Given the description of an element on the screen output the (x, y) to click on. 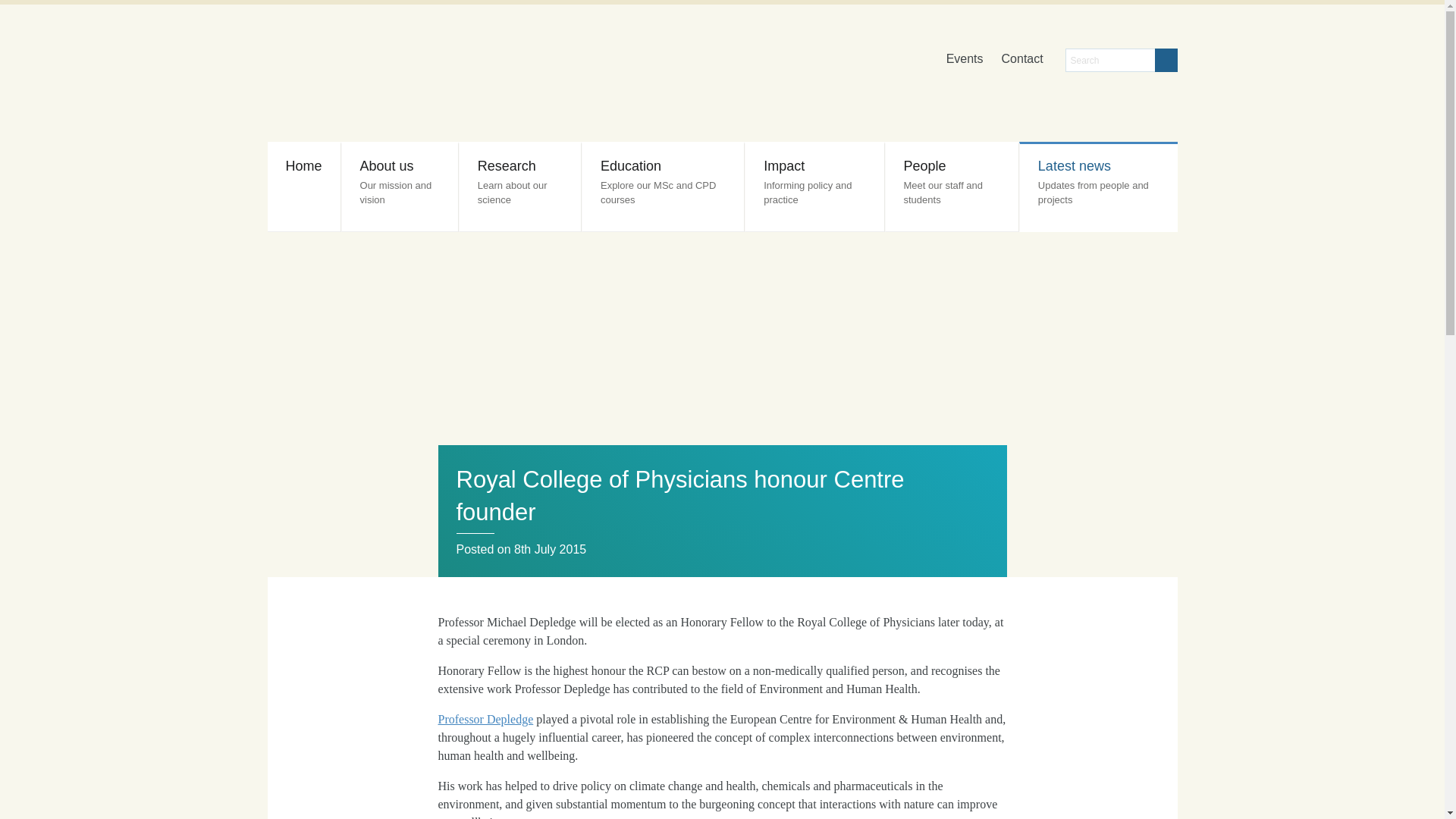
Contact (1022, 60)
Search (1165, 60)
University of Exeter Medical School (520, 187)
Prof Michael Depledge (663, 187)
University of Exeter Medical School (690, 75)
Events (486, 718)
Search (690, 75)
Professor Depledge (814, 187)
Search (965, 60)
